Given the description of an element on the screen output the (x, y) to click on. 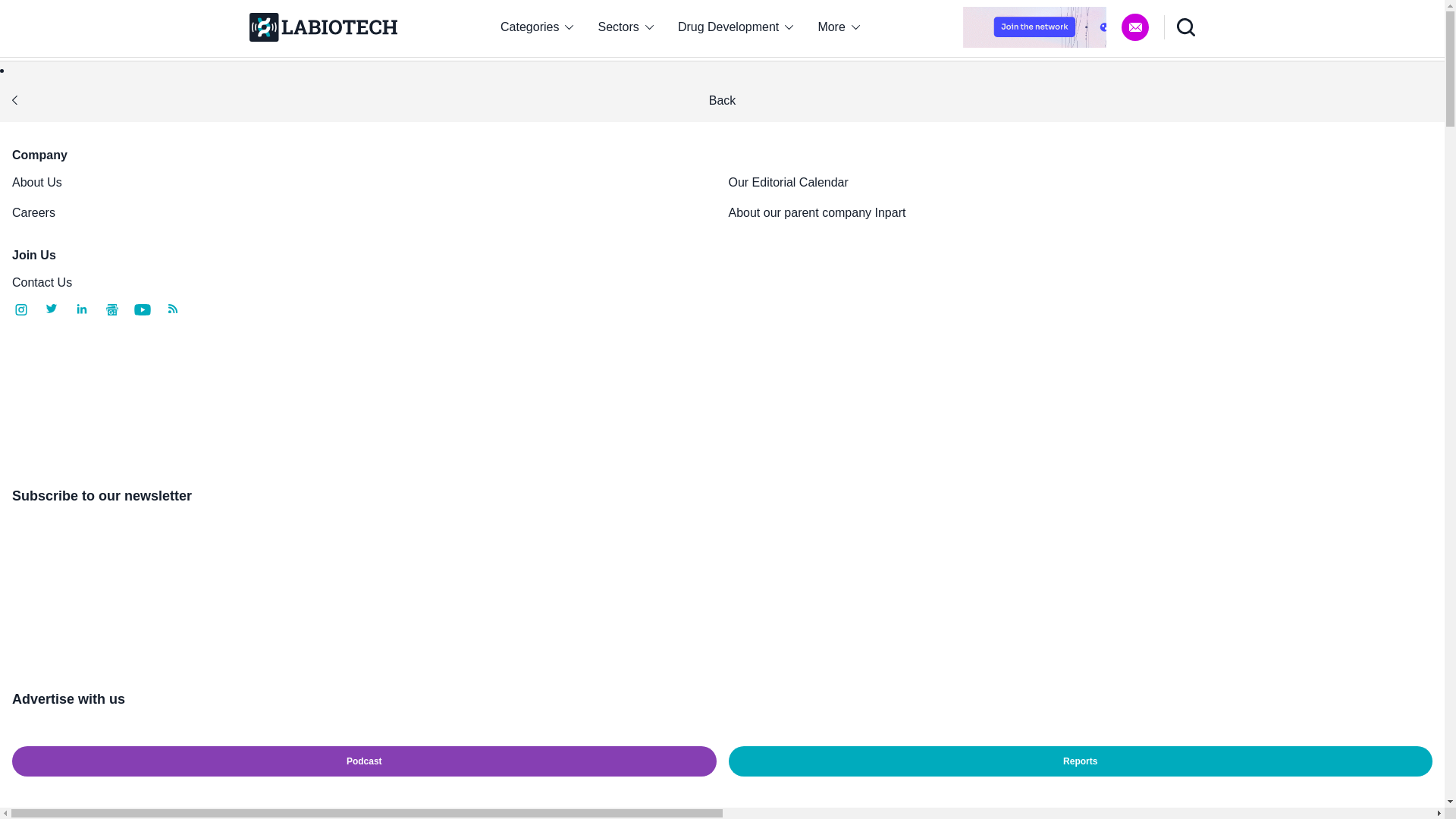
Labiotech.eu (322, 27)
Categories (536, 27)
Drug Development (735, 27)
Sectors (625, 27)
